Given the description of an element on the screen output the (x, y) to click on. 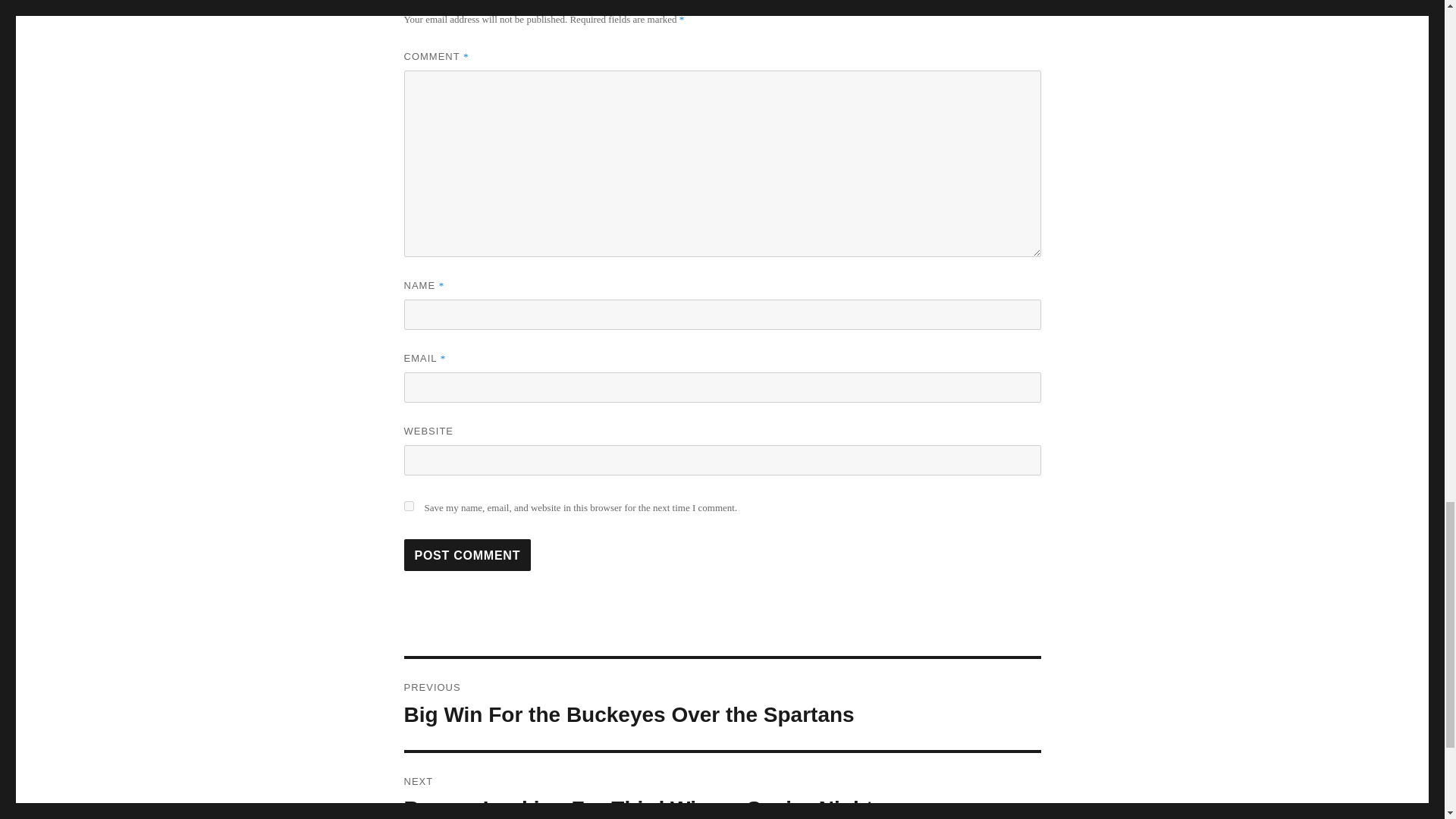
yes (408, 506)
Post Comment (722, 785)
Post Comment (467, 554)
